Given the description of an element on the screen output the (x, y) to click on. 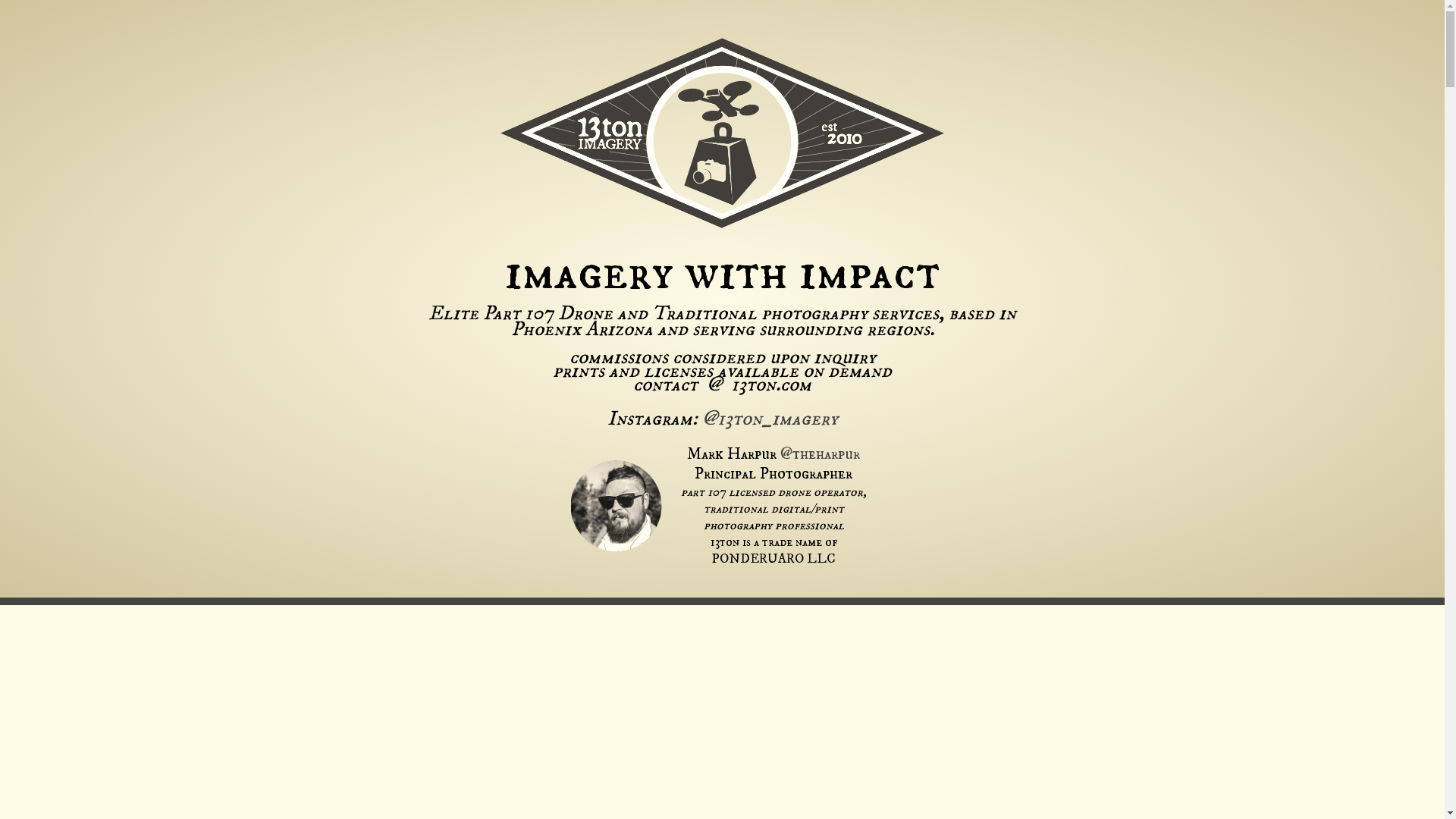
@13ton_imagery Element type: text (769, 418)
@theharpur Element type: text (819, 454)
